Given the description of an element on the screen output the (x, y) to click on. 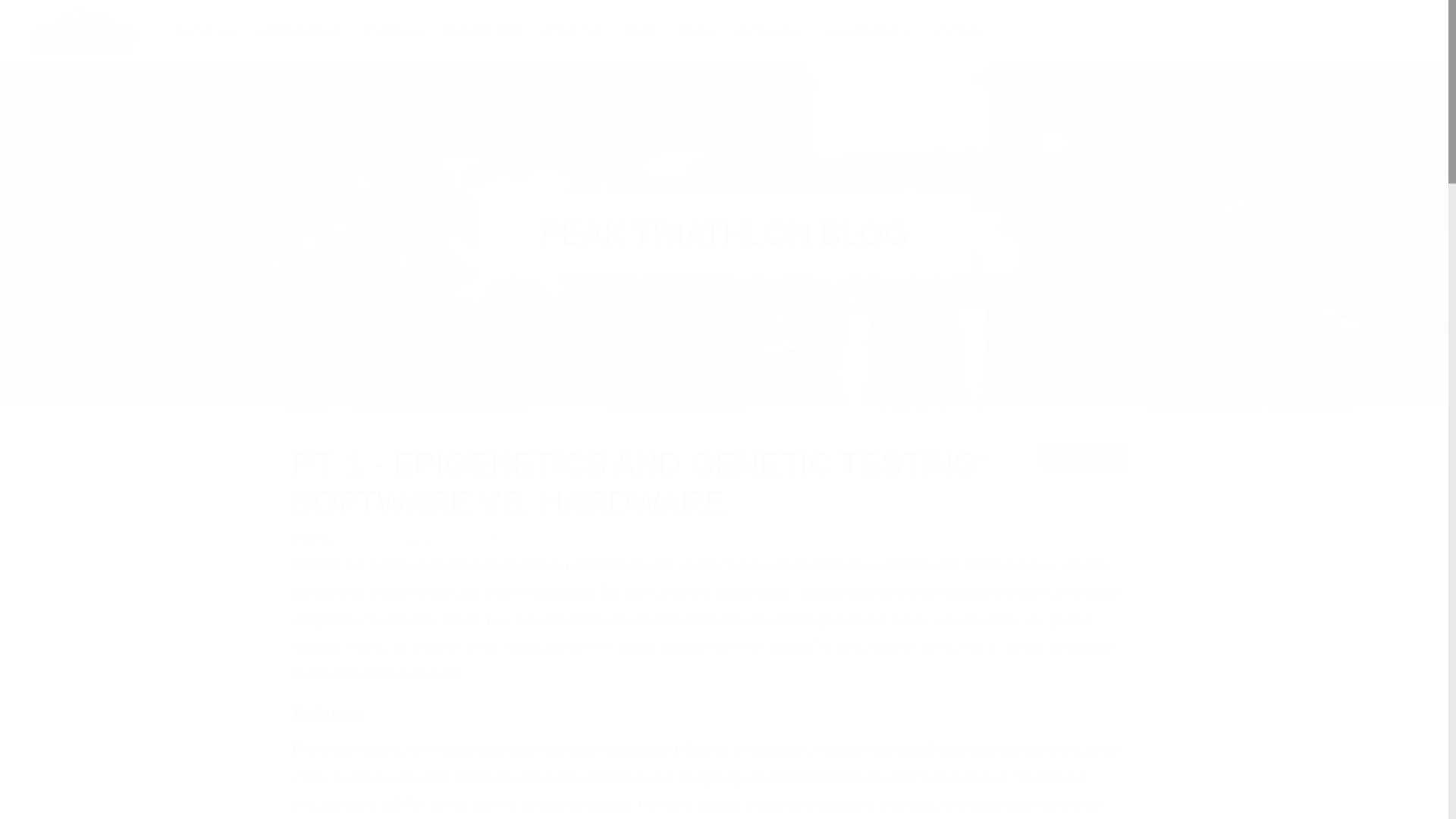
TESTIMONIALS (868, 30)
PODCAST (572, 30)
Colin Cook (371, 539)
BLOG (639, 30)
GEAR (695, 30)
PHILOSOPHY (482, 30)
SWIM CENTER (298, 30)
Trent's Blog (453, 539)
SERVICES (204, 30)
COACHES (392, 30)
SUBSCRIBE (1083, 457)
CONTACT (963, 30)
Uncategorized (533, 539)
SPONSORS (768, 30)
